Given the description of an element on the screen output the (x, y) to click on. 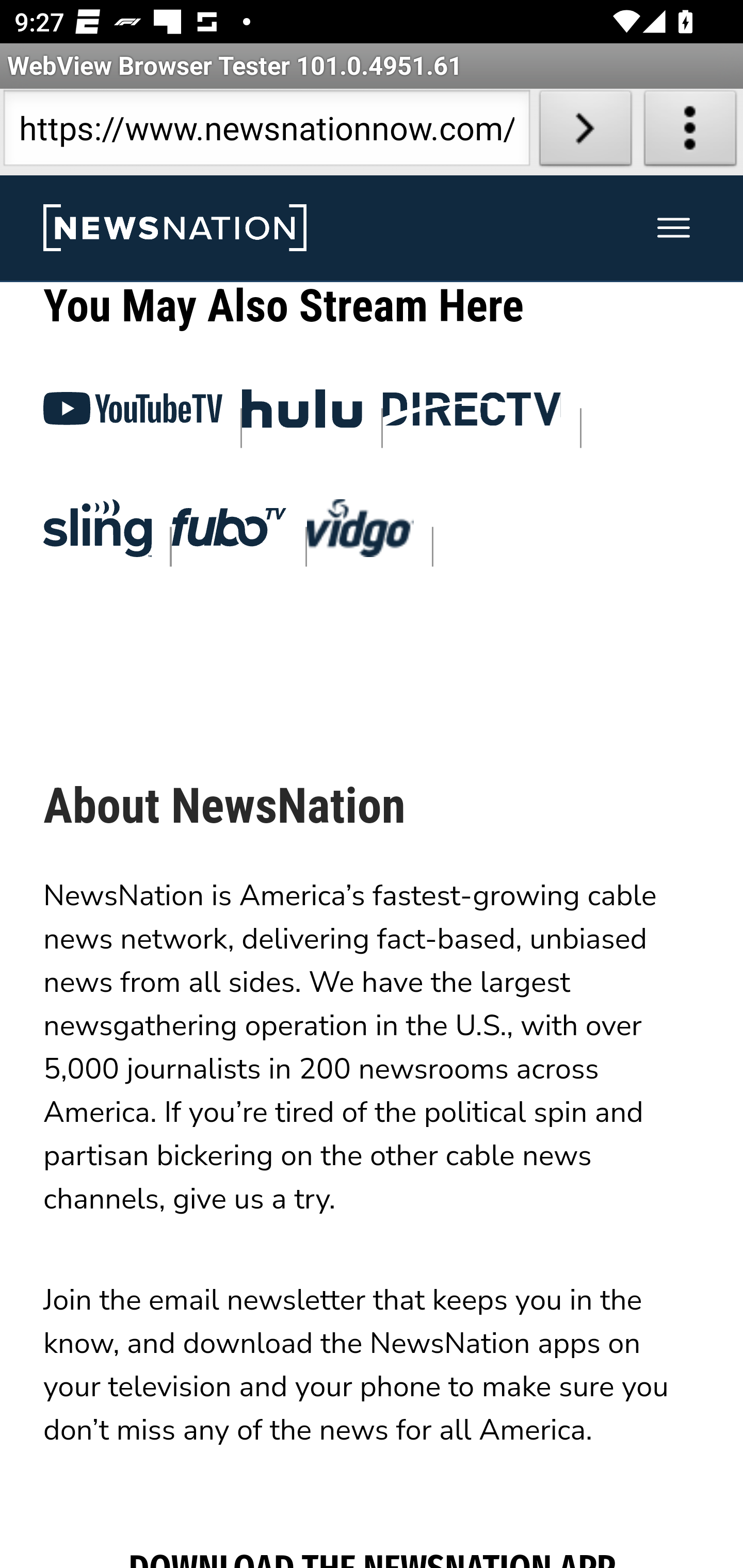
https://www.newsnationnow.com/channel-finder/ (266, 132)
Load URL (585, 132)
About WebView (690, 132)
www.newsnationnow (174, 228)
Toggle Menu (674, 228)
Hulu (303, 414)
YouTube TV (133, 415)
Direct TV (472, 415)
Sling (97, 533)
Vidgo (360, 533)
Fubo (229, 533)
